Given the description of an element on the screen output the (x, y) to click on. 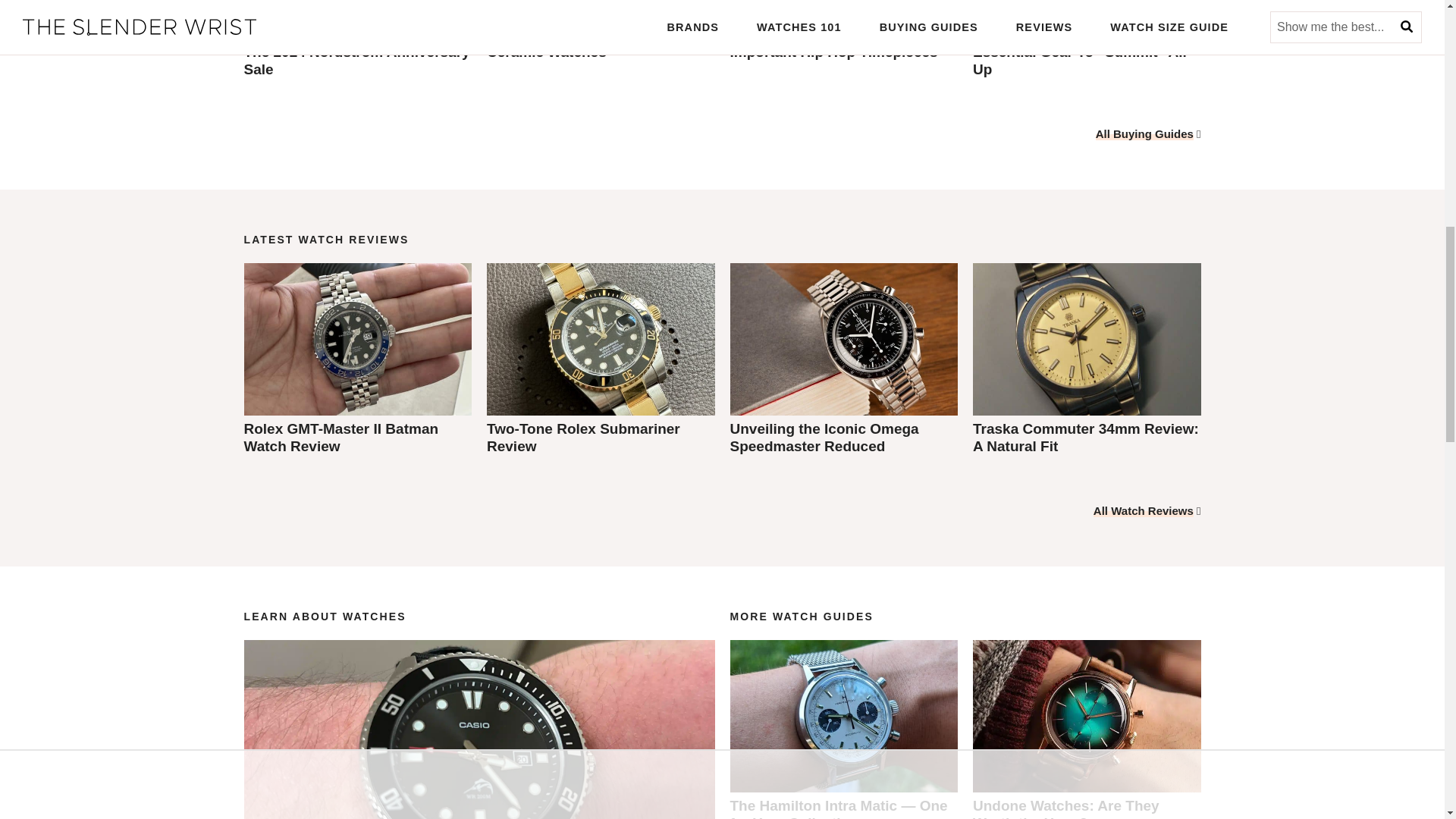
All Buying Guides (1144, 133)
Unveiling the Iconic Omega Speedmaster Reduced (823, 437)
All Watch Reviews (1143, 510)
Rolex GMT-Master II Batman Watch Review (341, 437)
Studying the Alchemy of Ceramic Watches (570, 42)
Undone Watches: Are They Worth the Hype? (1065, 808)
Ice Cold Watches: Fascinatingly Important Hip Hop Timepieces (839, 42)
Traska Commuter 34mm Review: A Natural Fit (1085, 437)
Two-Tone Rolex Submariner Review (582, 437)
